Given the description of an element on the screen output the (x, y) to click on. 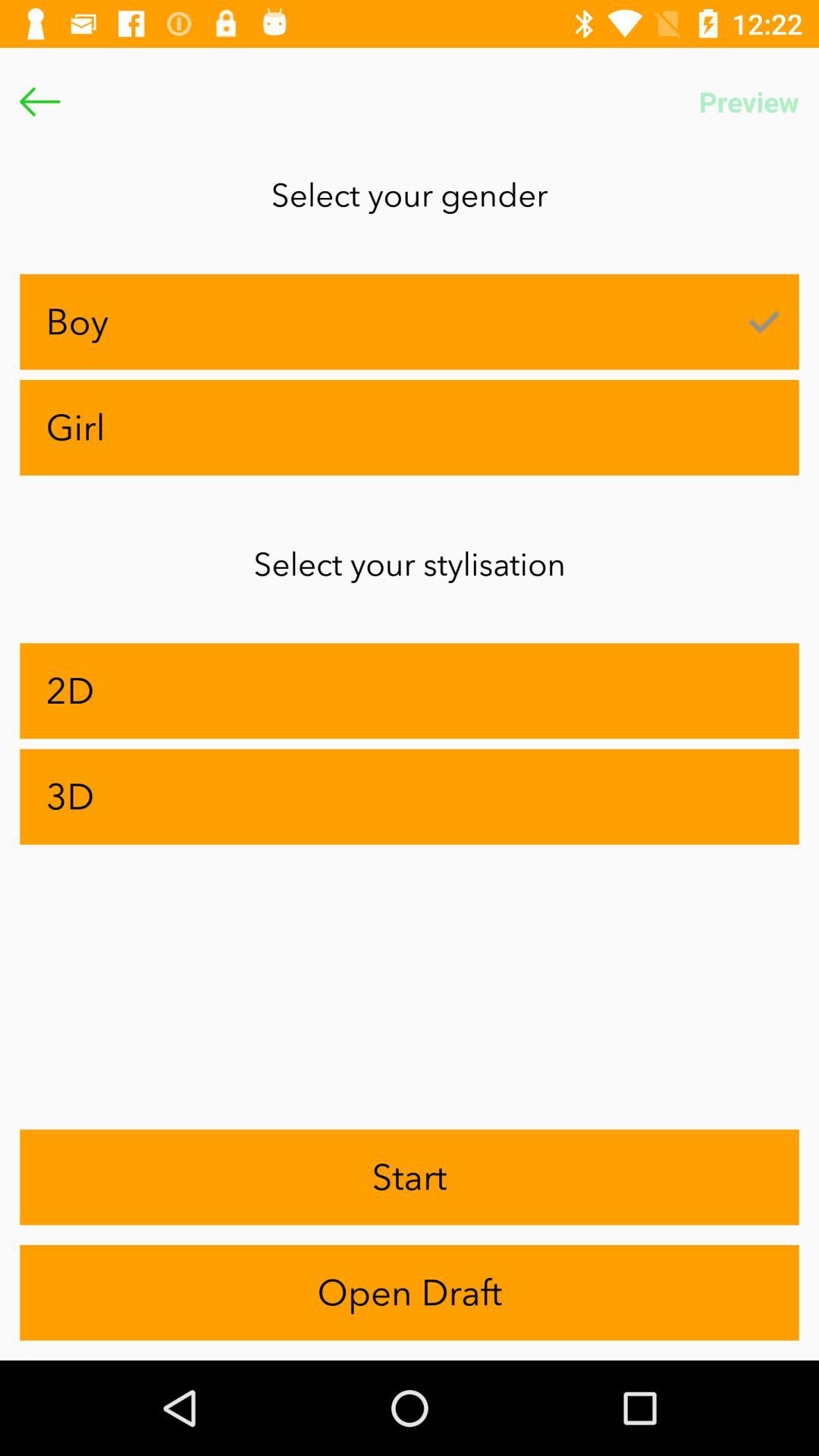
jump until open draft item (409, 1292)
